Given the description of an element on the screen output the (x, y) to click on. 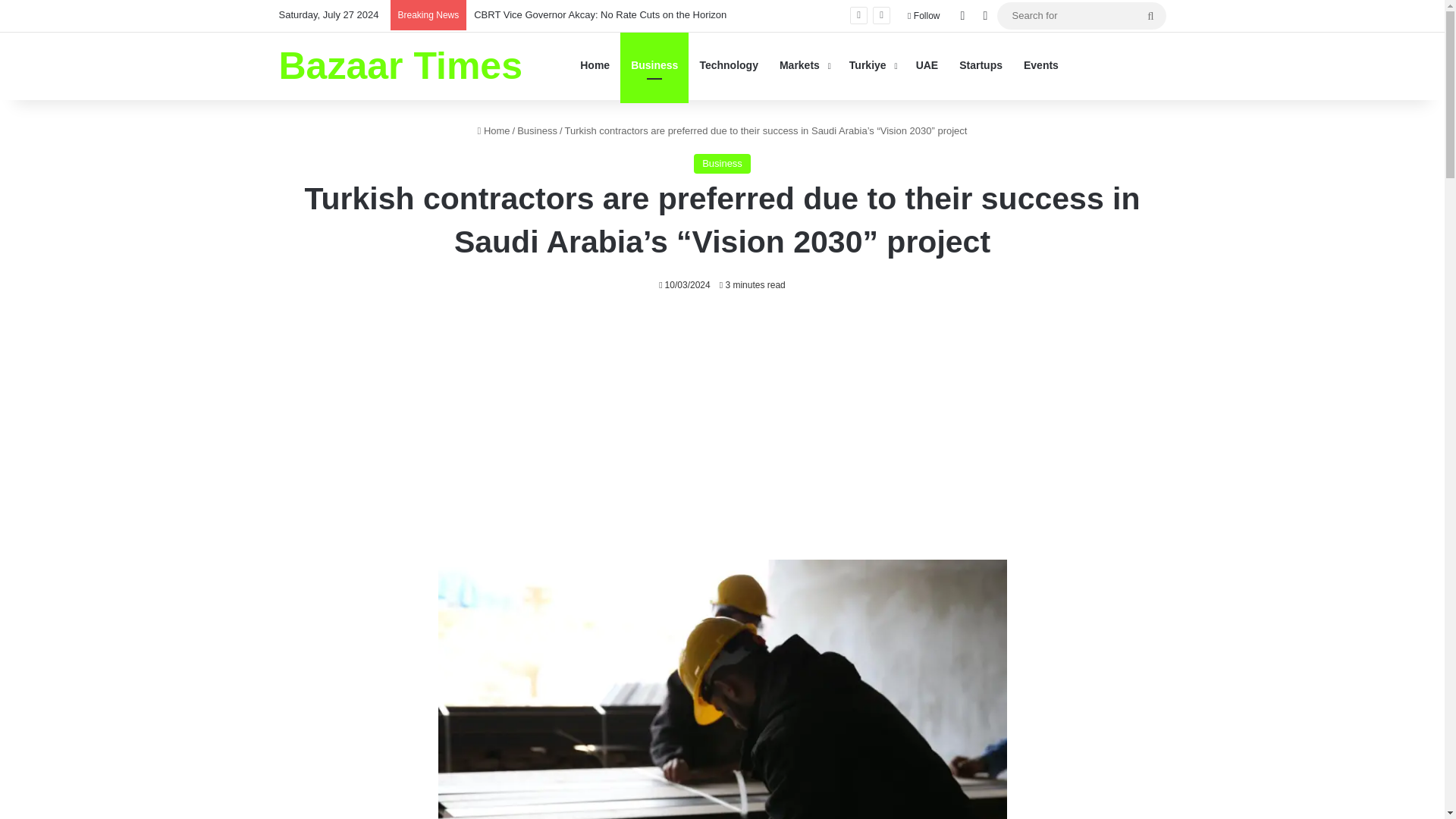
Search for (1150, 15)
Business (536, 130)
CBRT Vice Governor Akcay: No Rate Cuts on the Horizon (600, 14)
Business (654, 65)
Startups (981, 65)
Business (722, 163)
Home (494, 130)
Bazaar Times (400, 65)
Follow (923, 15)
Technology (728, 65)
Search for (1080, 15)
Turkiye (871, 65)
Bazaar Times (400, 65)
Markets (803, 65)
